Given the description of an element on the screen output the (x, y) to click on. 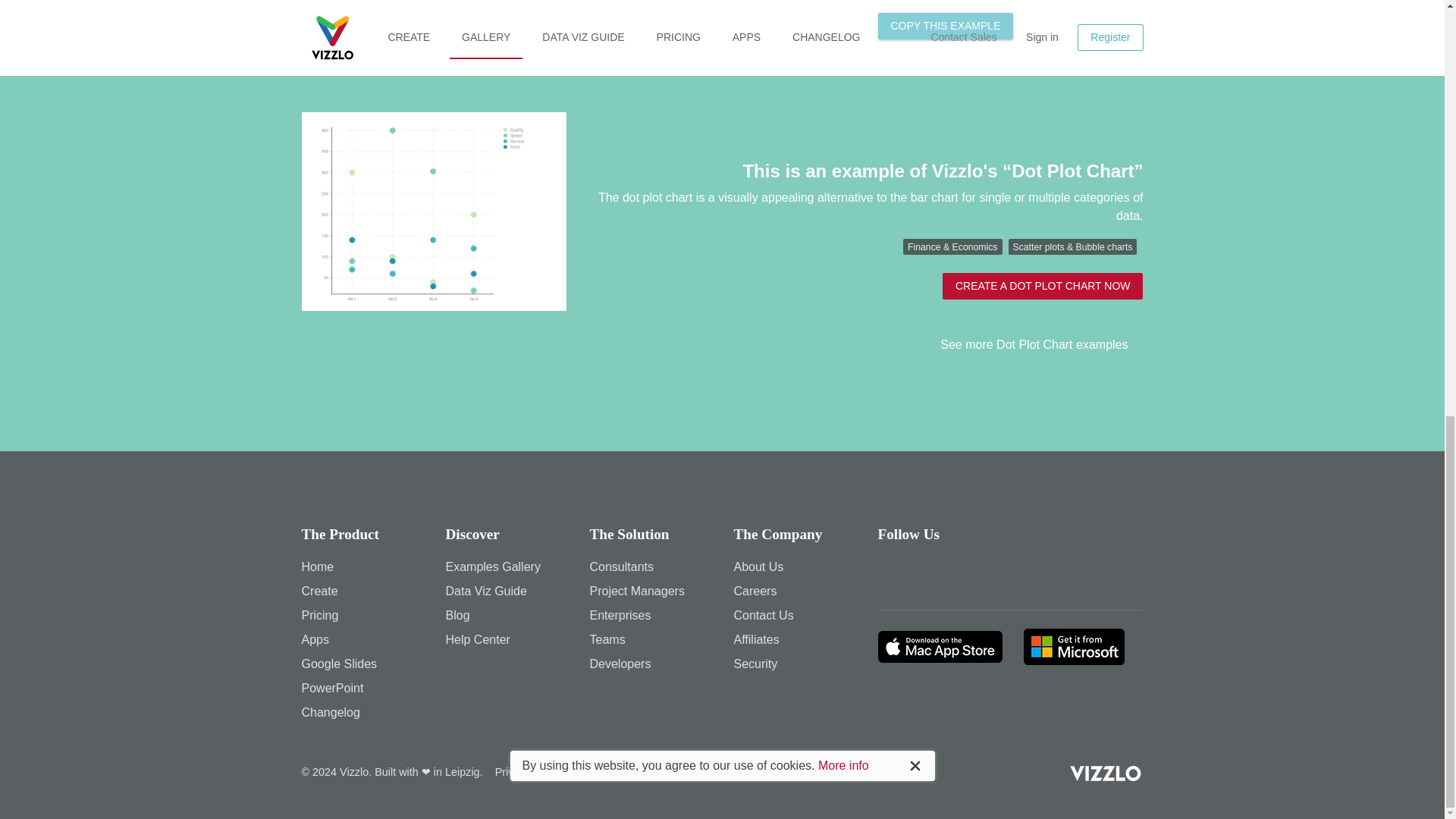
Pricing (320, 615)
Chart Tools for Developers (619, 663)
LinkedIn (978, 573)
Help Center (478, 639)
Examples Gallery (492, 566)
See more Dot Plot Chart examples (1041, 344)
GitHub (1064, 573)
Business Graphics for Project Consultants (621, 566)
Twitter (936, 573)
Infographics, chart types and visualization templates (319, 590)
